Given the description of an element on the screen output the (x, y) to click on. 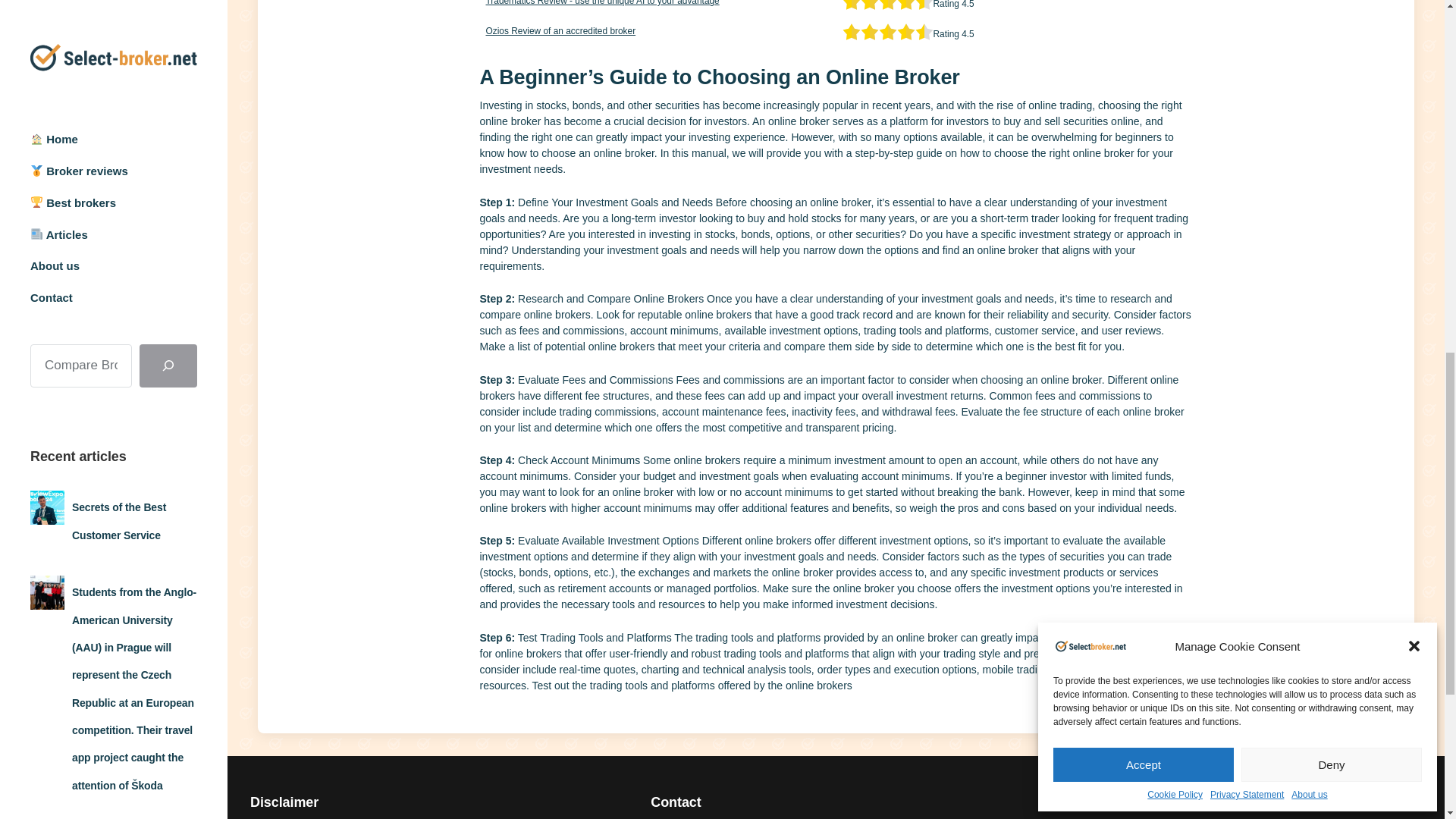
Burnout syndrome: Take care of your mental health (133, 163)
TOP 10 ways to make money online - and what to look out for? (132, 276)
